Given the description of an element on the screen output the (x, y) to click on. 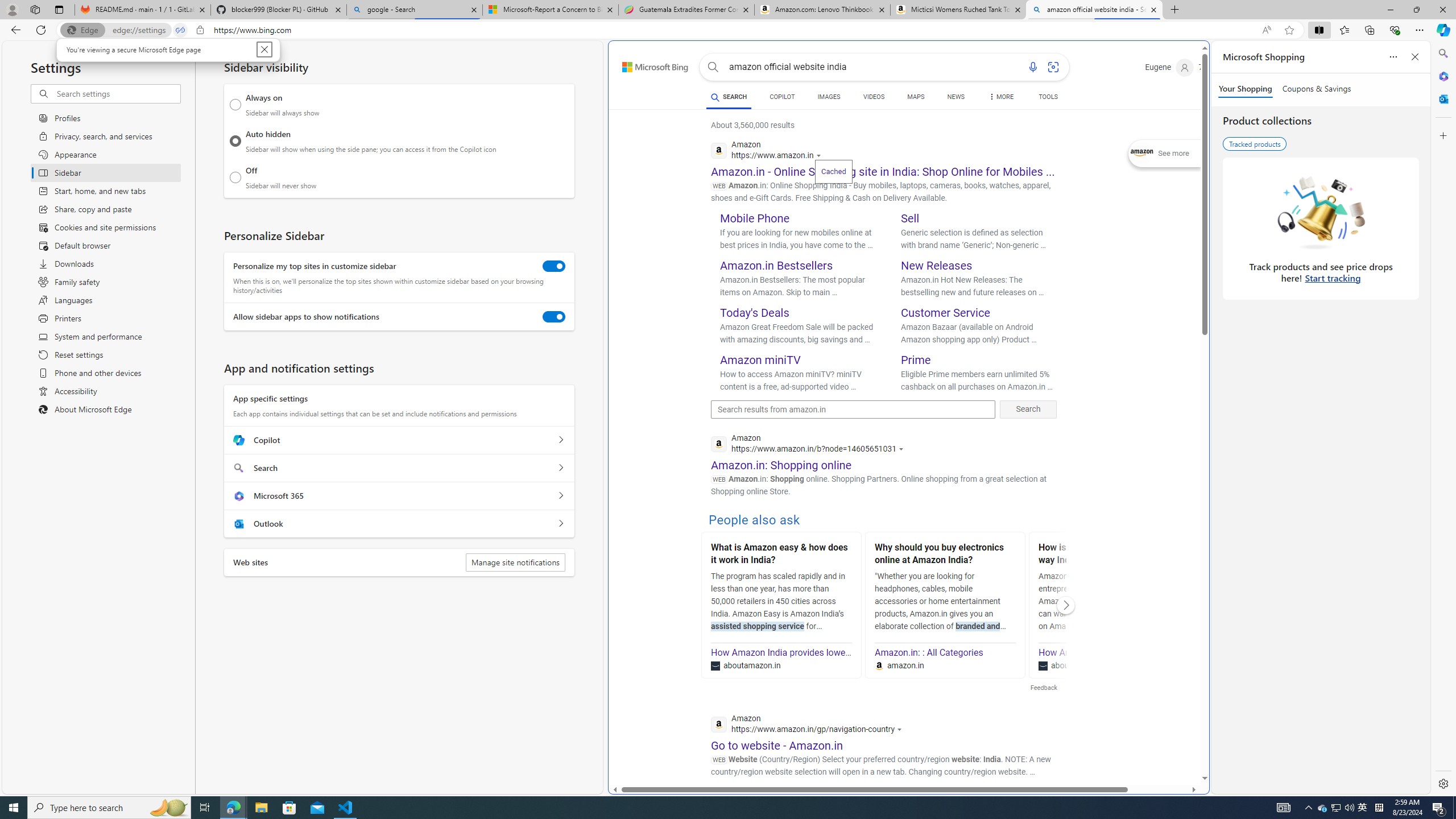
Why should you buy electronics online at Amazon India? (945, 555)
Amazon miniTV (760, 359)
